Given the description of an element on the screen output the (x, y) to click on. 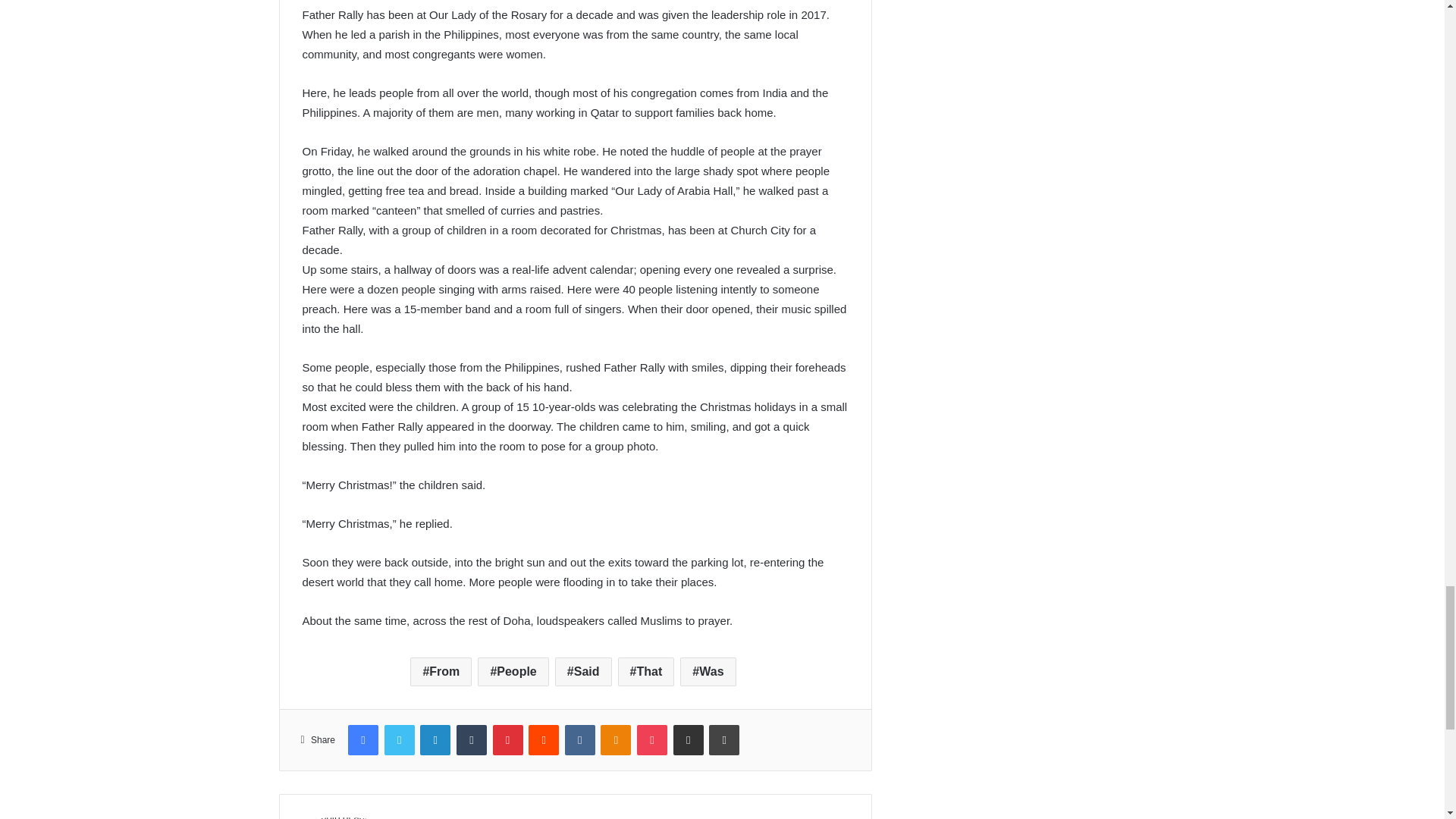
That (646, 671)
Was (707, 671)
People (512, 671)
Said (582, 671)
From (440, 671)
